Given the description of an element on the screen output the (x, y) to click on. 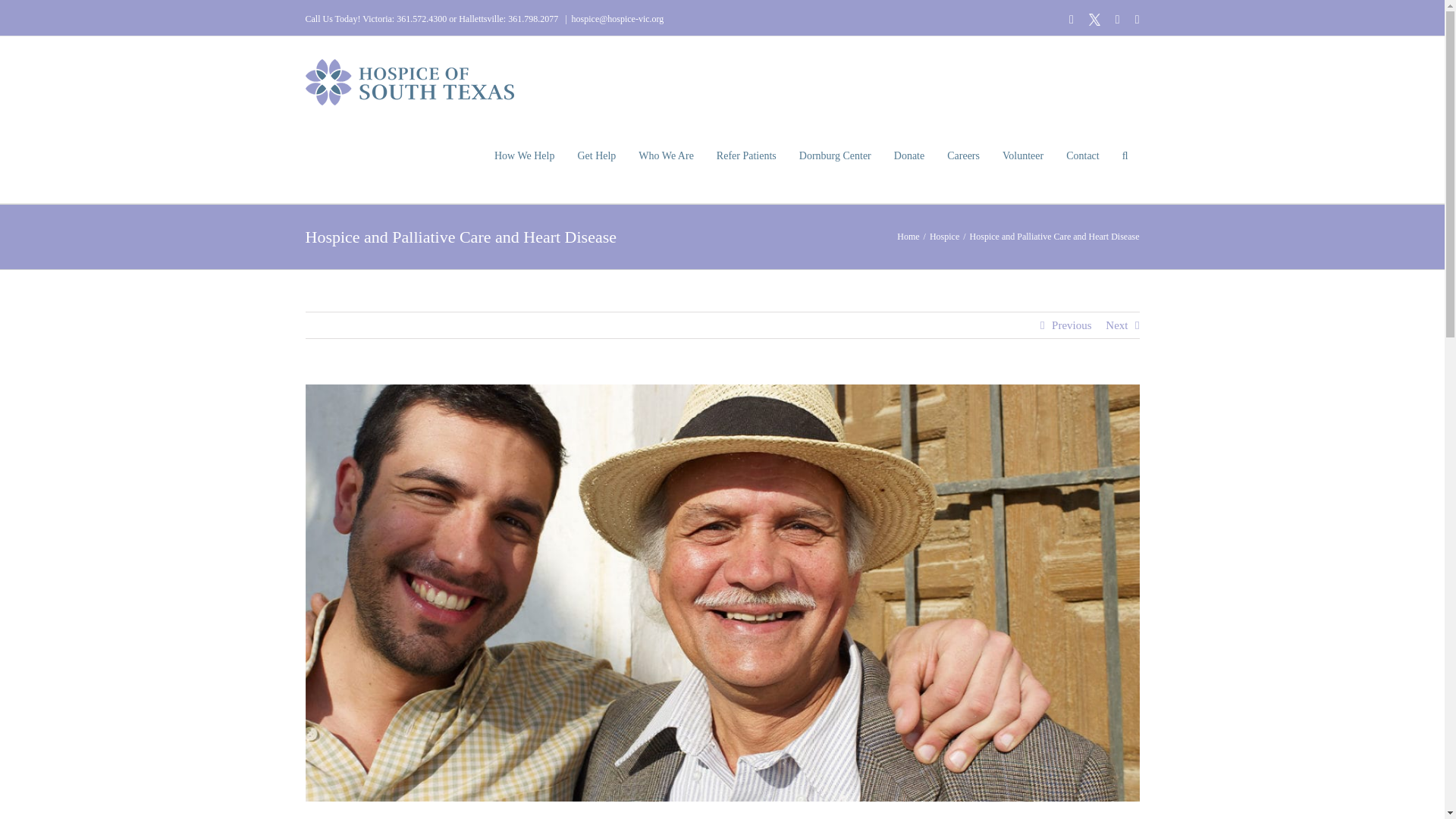
Dornburg Center (834, 156)
Get Help (596, 156)
Twitter (1094, 19)
How We Help (524, 156)
Who We Are (665, 156)
Refer Patients (745, 156)
Volunteer (1022, 156)
